Given the description of an element on the screen output the (x, y) to click on. 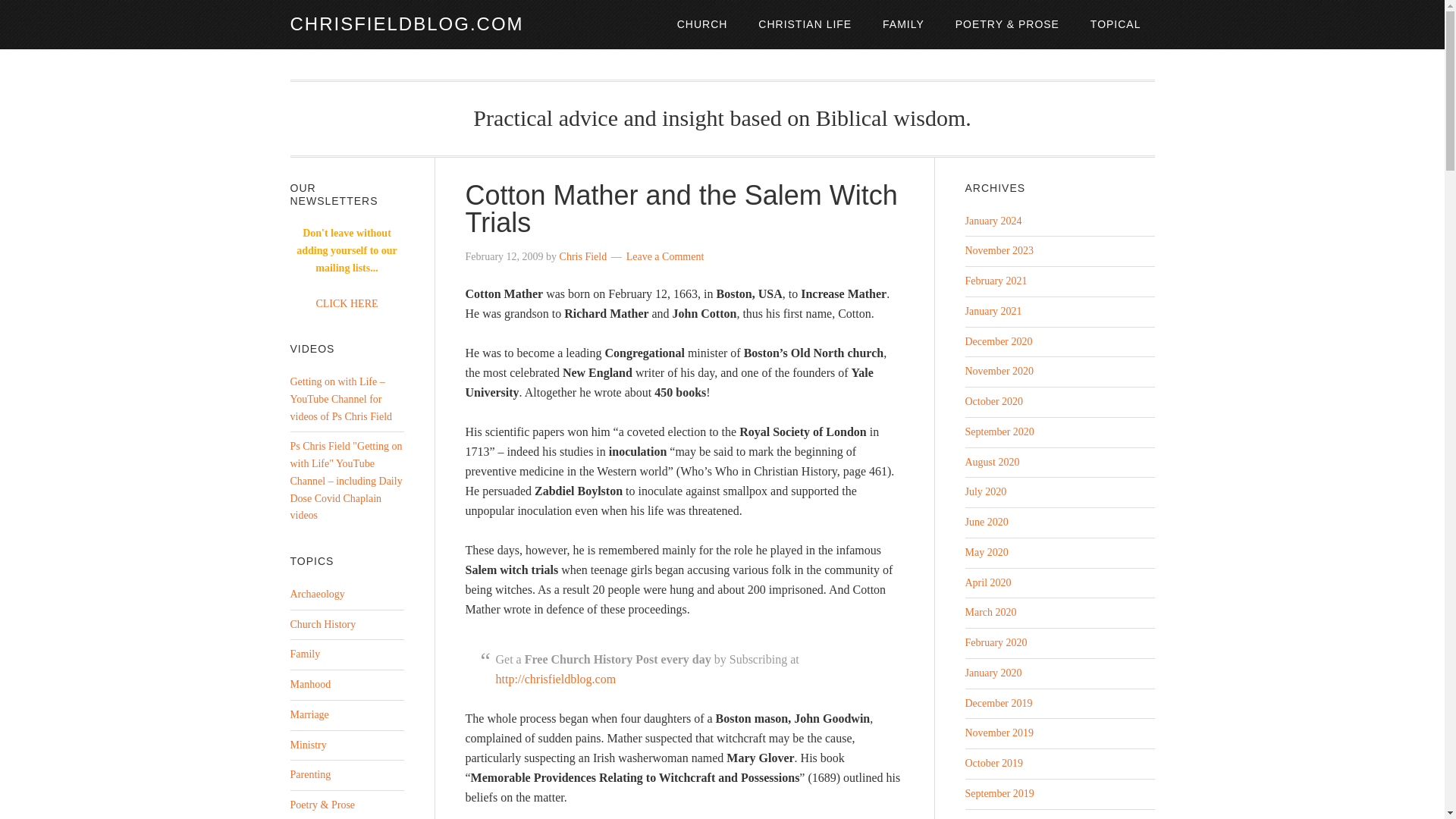
Leave a Comment (665, 256)
Chris Field (583, 256)
Discussion of archaeological findings and topics. (316, 593)
CHRISTIAN LIFE (804, 24)
FAMILY (903, 24)
